Given the description of an element on the screen output the (x, y) to click on. 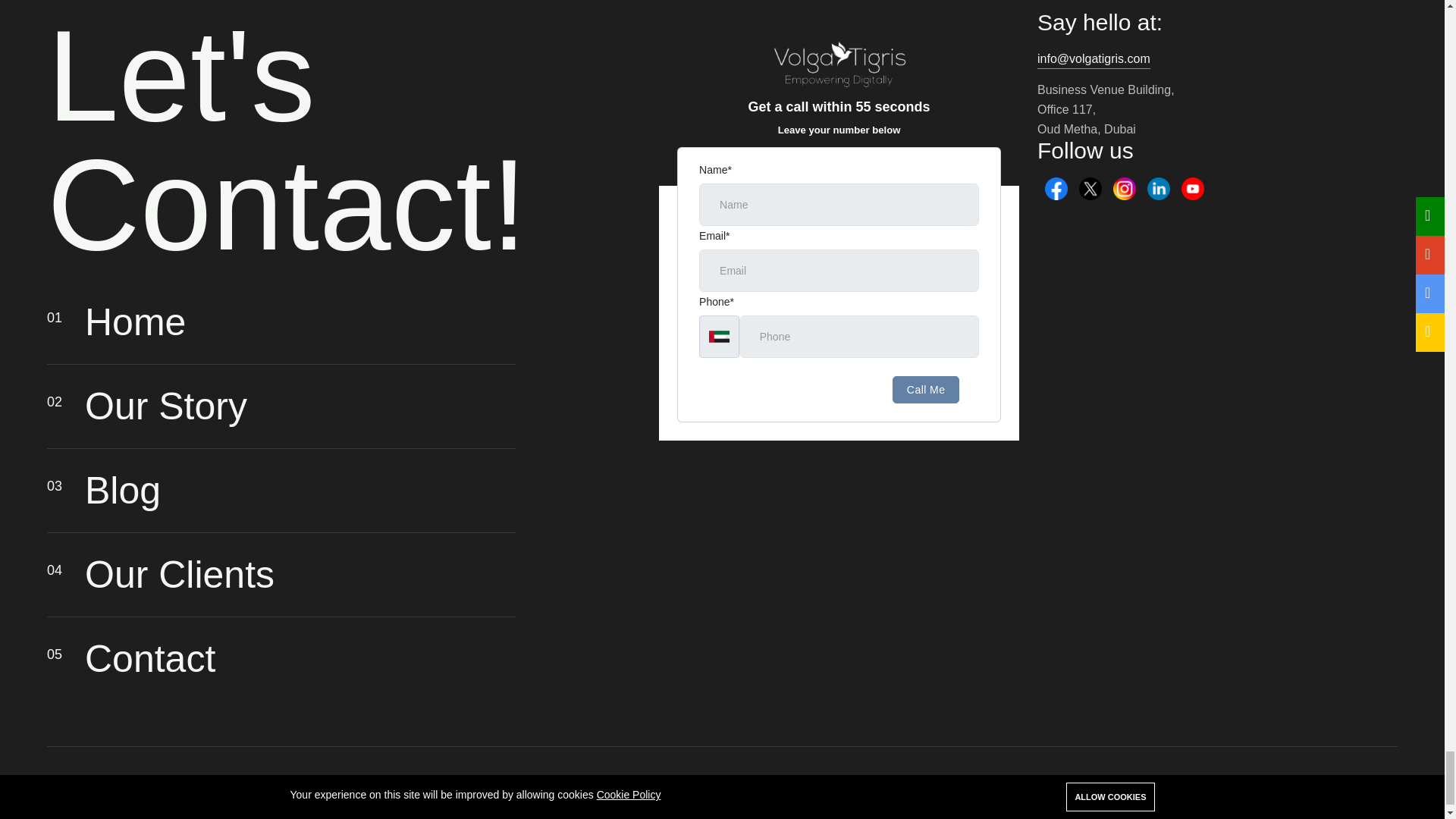
LinkedIn (1158, 187)
Facebook (1056, 187)
Twitter (1090, 187)
Youtube (1192, 187)
Instagram (1124, 187)
